Given the description of an element on the screen output the (x, y) to click on. 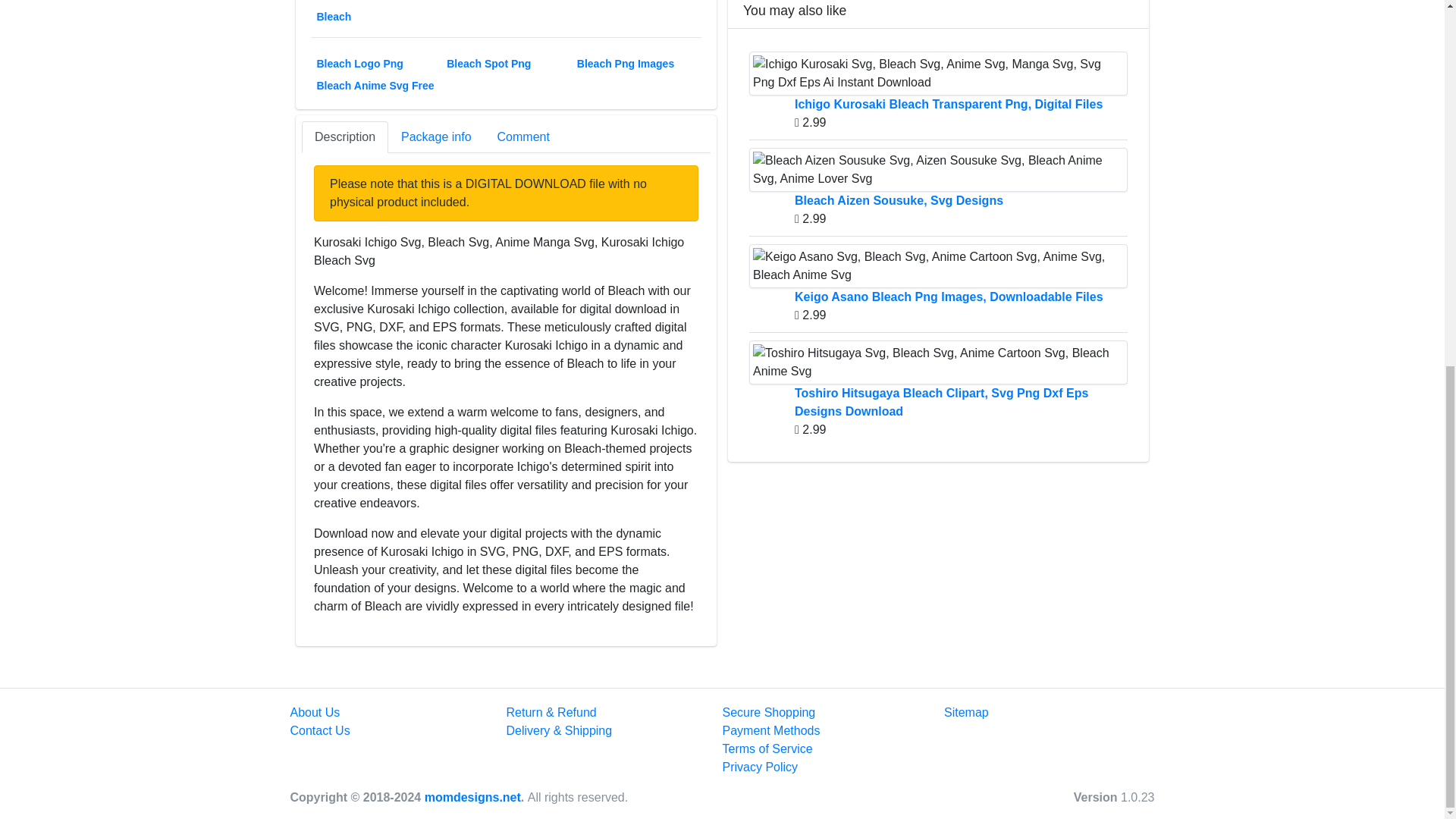
Ichigo Kurosaki Bleach Transparent Png, Digital Files (937, 73)
Keigo Asano Bleach Png Images, Downloadable Files (937, 266)
Bleach Aizen Sousuke, Svg Designs (937, 169)
